Given the description of an element on the screen output the (x, y) to click on. 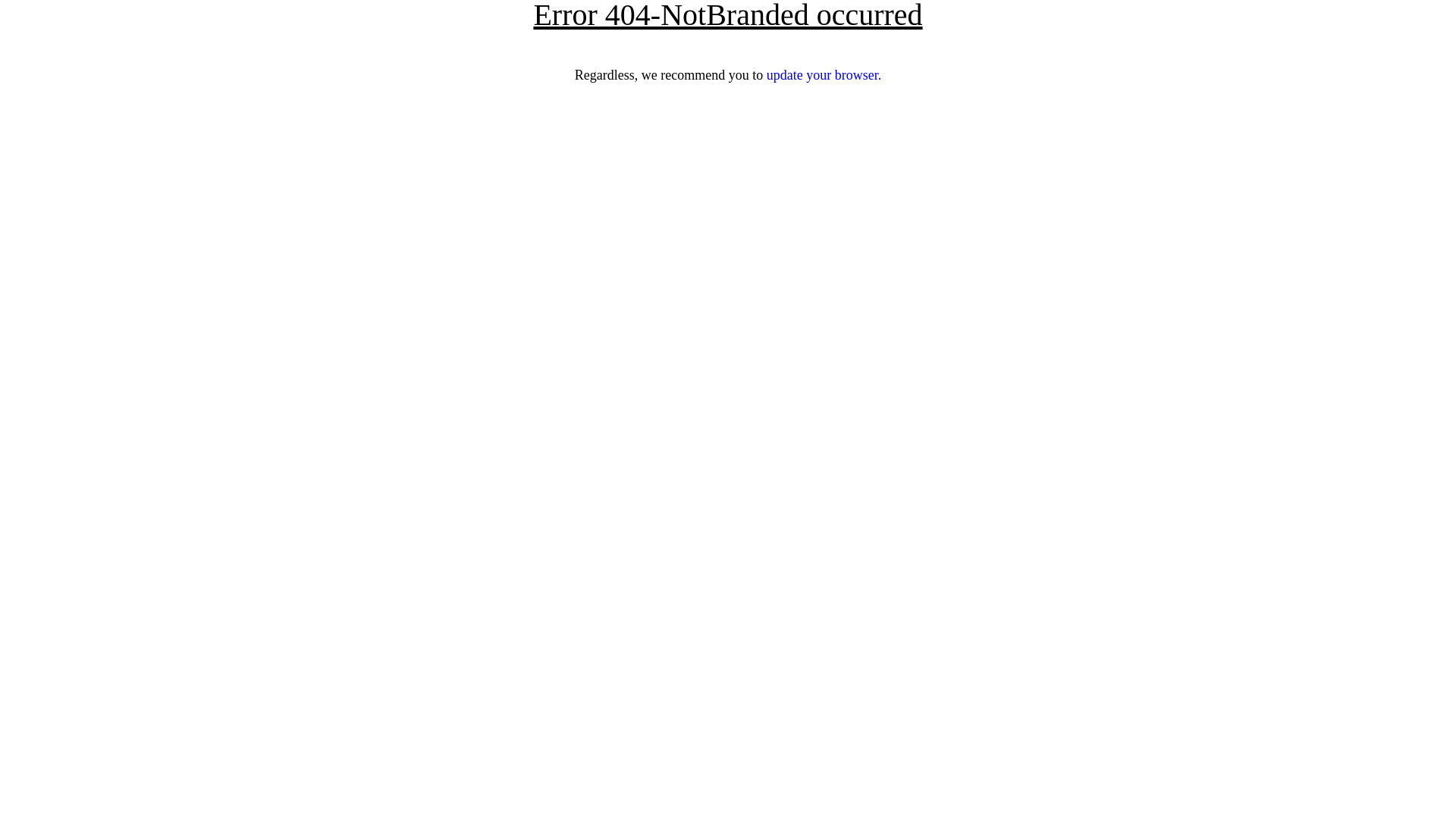
update your browser. Element type: text (823, 74)
